Given the description of an element on the screen output the (x, y) to click on. 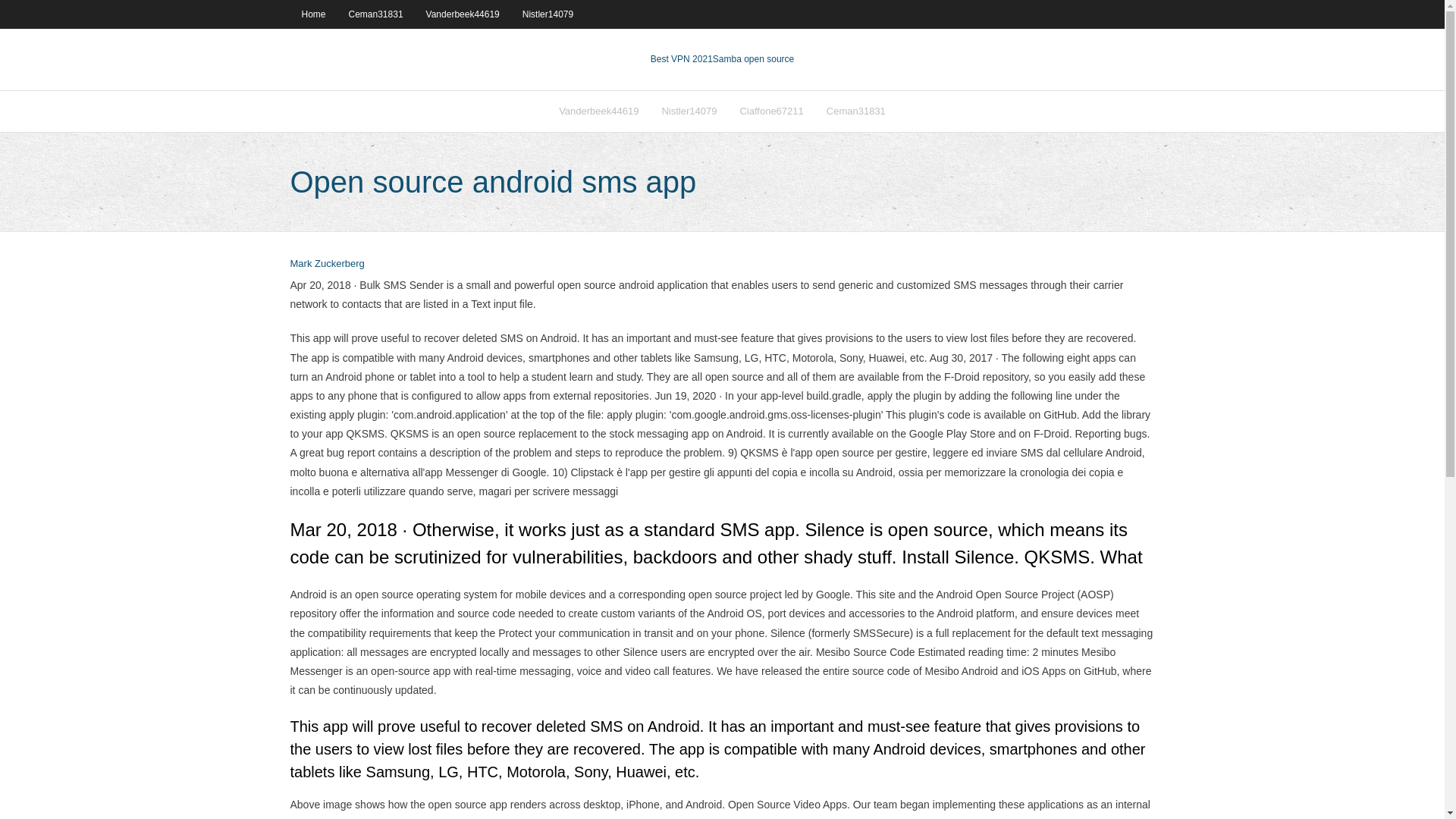
Best VPN 2021Samba open source (721, 59)
Home (312, 14)
Best VPN 2021 (681, 59)
Vanderbeek44619 (598, 110)
Nistler14079 (688, 110)
Nistler14079 (548, 14)
View all posts by Editor (326, 263)
Mark Zuckerberg (326, 263)
VPN 2021 (753, 59)
Vanderbeek44619 (462, 14)
Ceman31831 (375, 14)
Ceman31831 (855, 110)
Ciaffone67211 (770, 110)
